Given the description of an element on the screen output the (x, y) to click on. 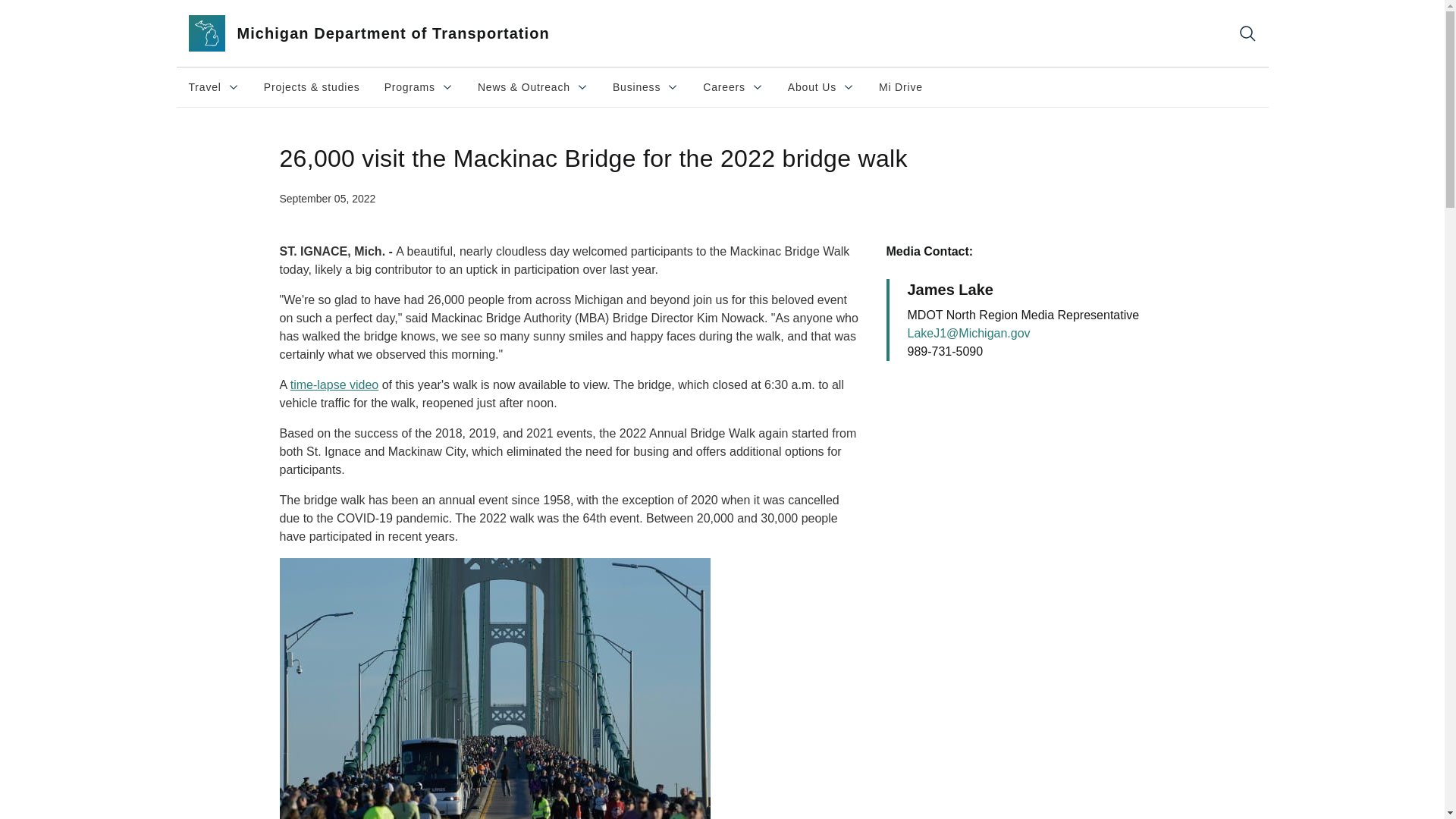
Michigan Department of Transportation (418, 87)
Mi Drive (386, 33)
